Given the description of an element on the screen output the (x, y) to click on. 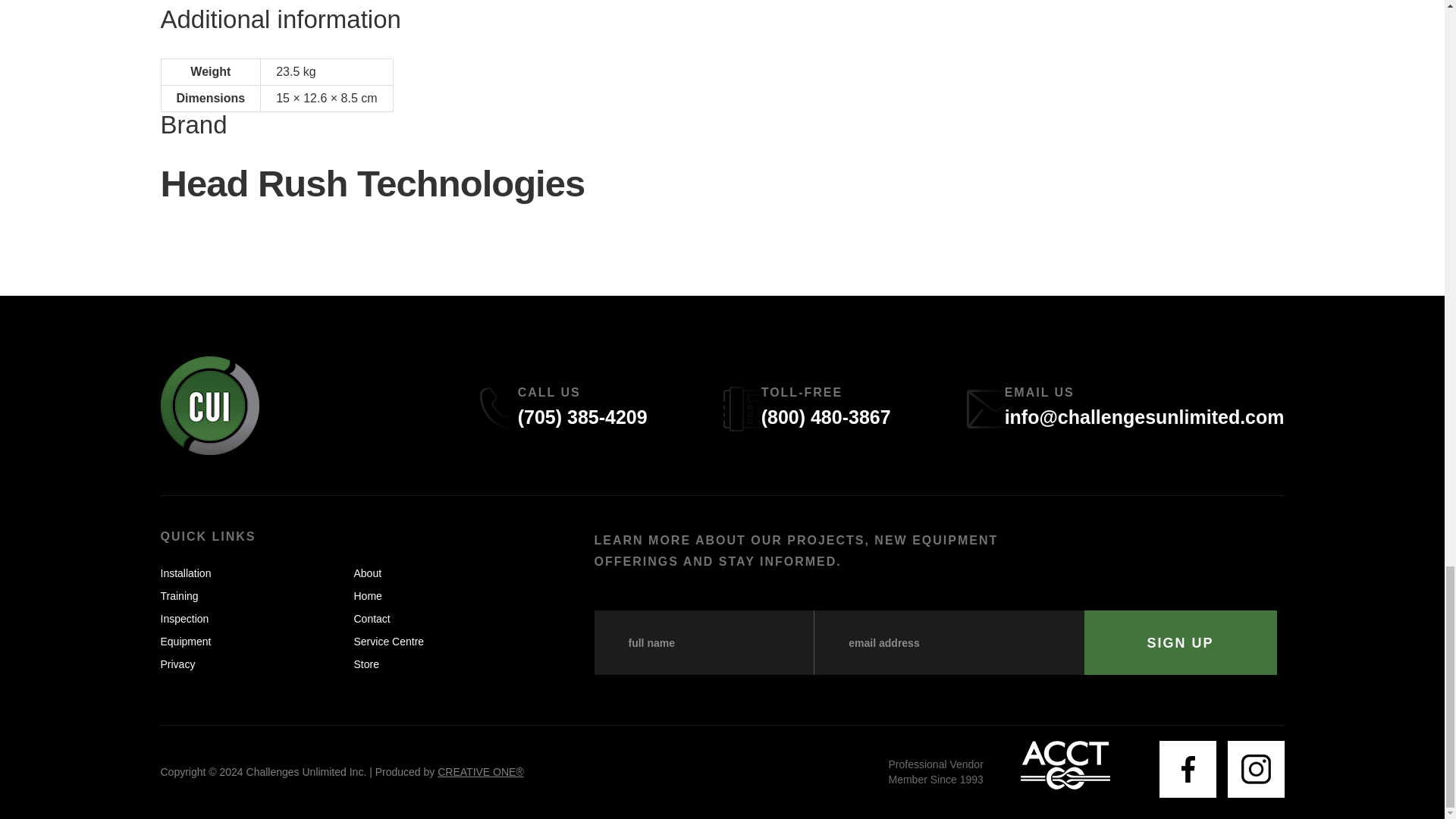
Equipment (185, 641)
Inspection (184, 618)
About (367, 573)
Training (179, 595)
Sign up (1180, 642)
Contact (371, 618)
Privacy (177, 664)
Installation (185, 573)
Store (365, 664)
Sign up (1180, 642)
